Given the description of an element on the screen output the (x, y) to click on. 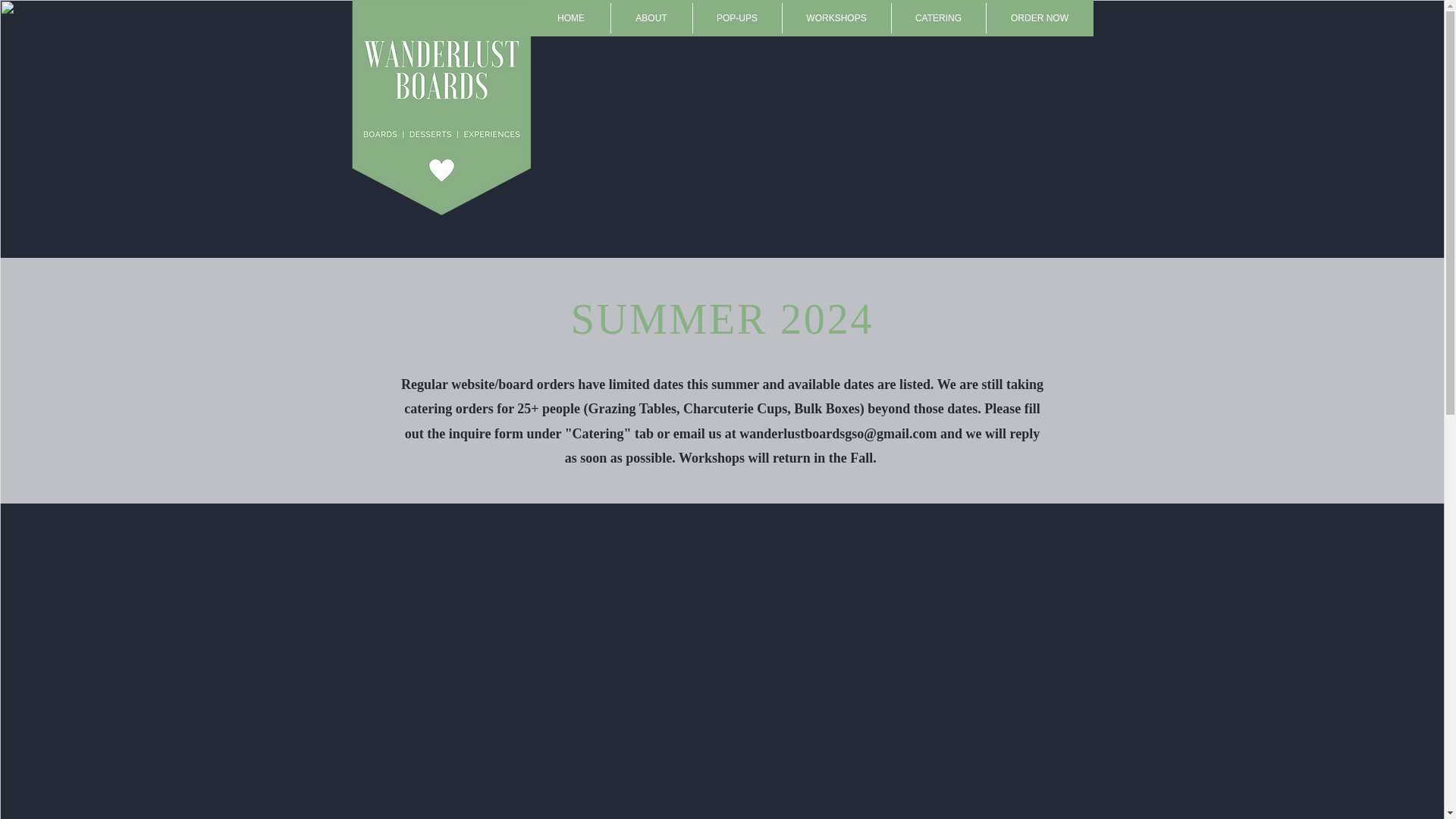
ORDER NOW (1039, 18)
ABOUT (652, 18)
POP-UPS (737, 18)
HOME (571, 18)
CATERING (938, 18)
WORKSHOPS (837, 18)
